Given the description of an element on the screen output the (x, y) to click on. 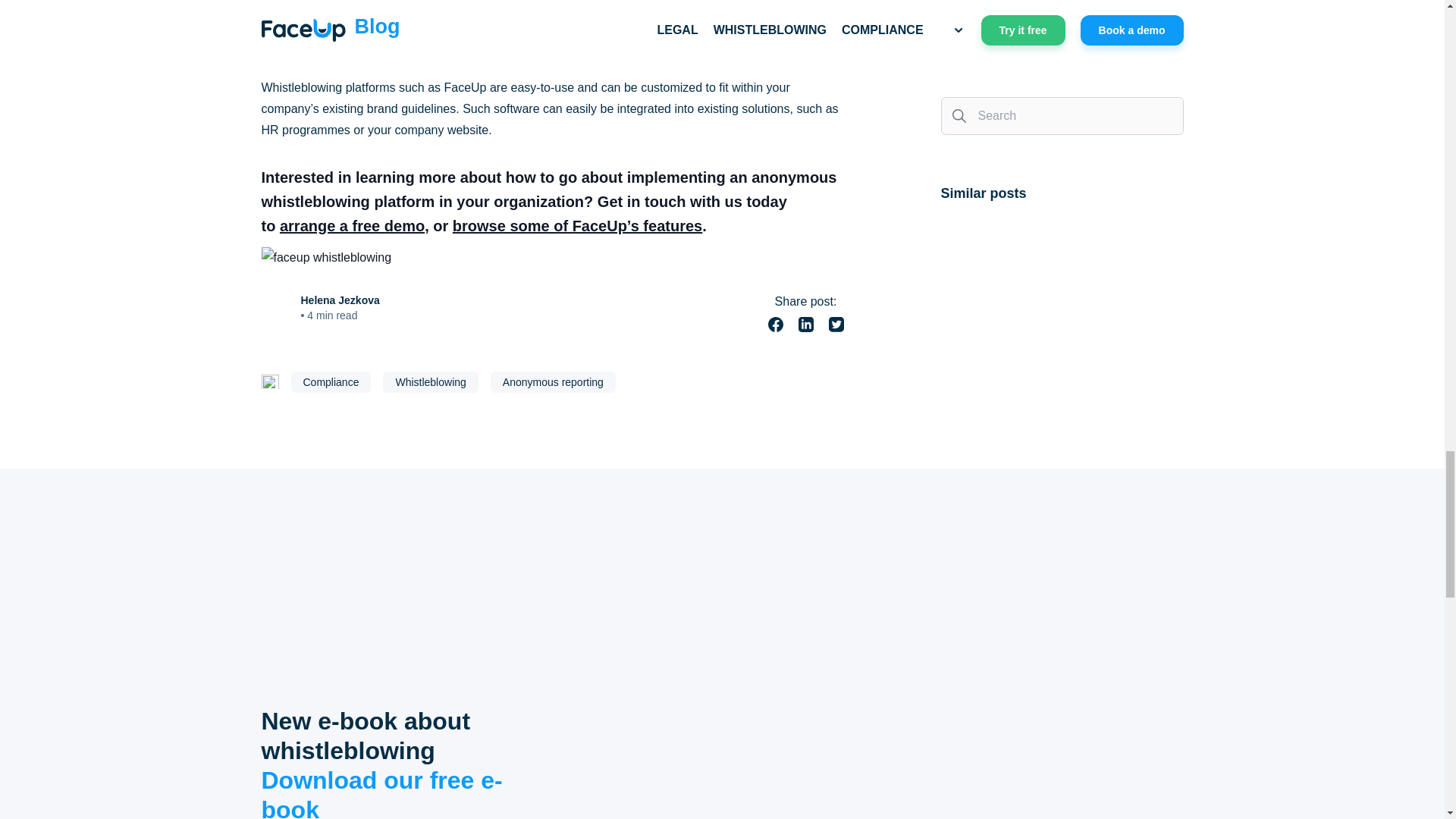
arrange a free demo (352, 225)
whistleblowing software (545, 19)
Compliance (331, 382)
Whistleblowing (429, 382)
Anonymous reporting (552, 382)
anonymous whistleblowing platform (547, 188)
